Given the description of an element on the screen output the (x, y) to click on. 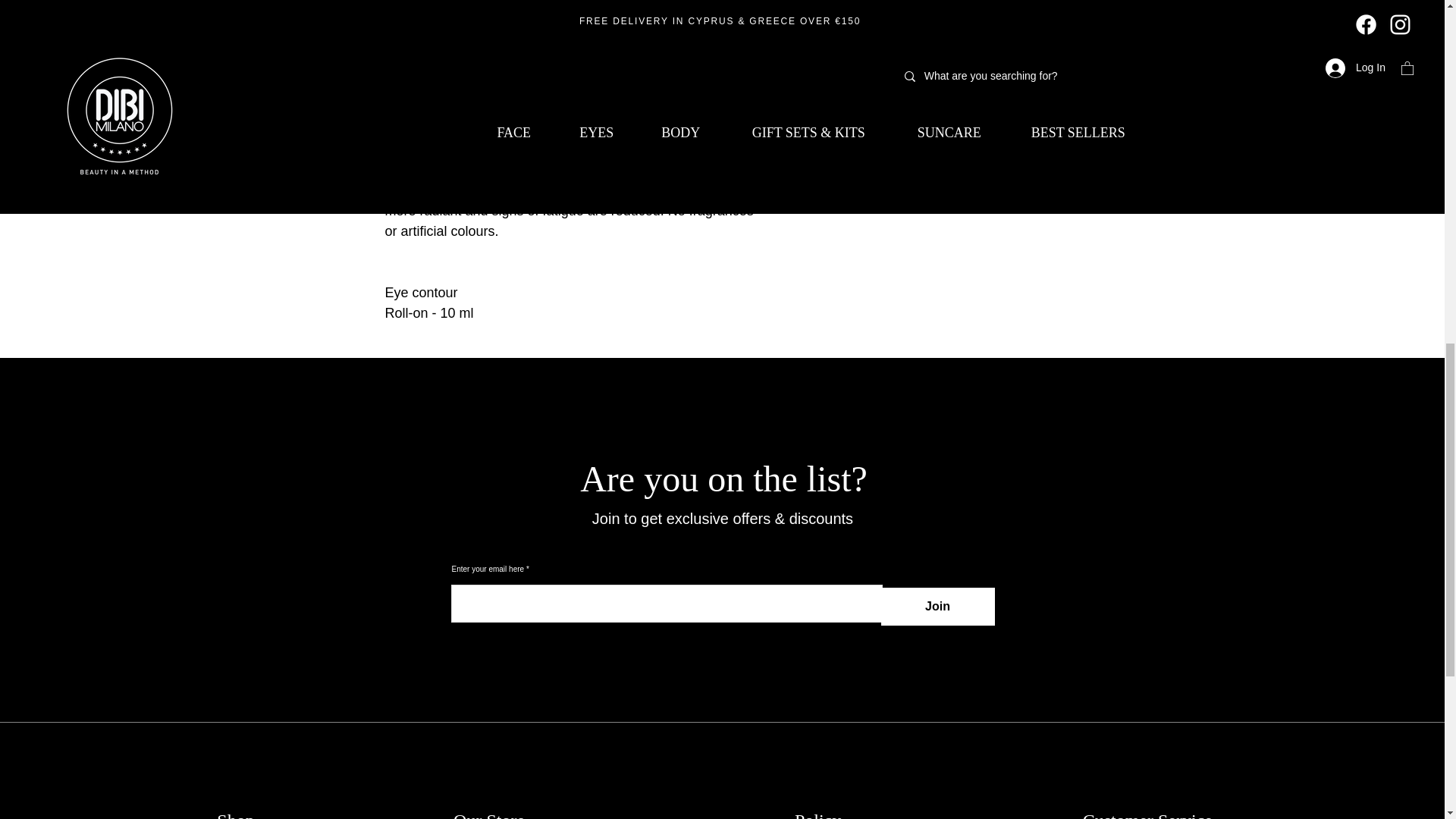
Join (937, 606)
